Given the description of an element on the screen output the (x, y) to click on. 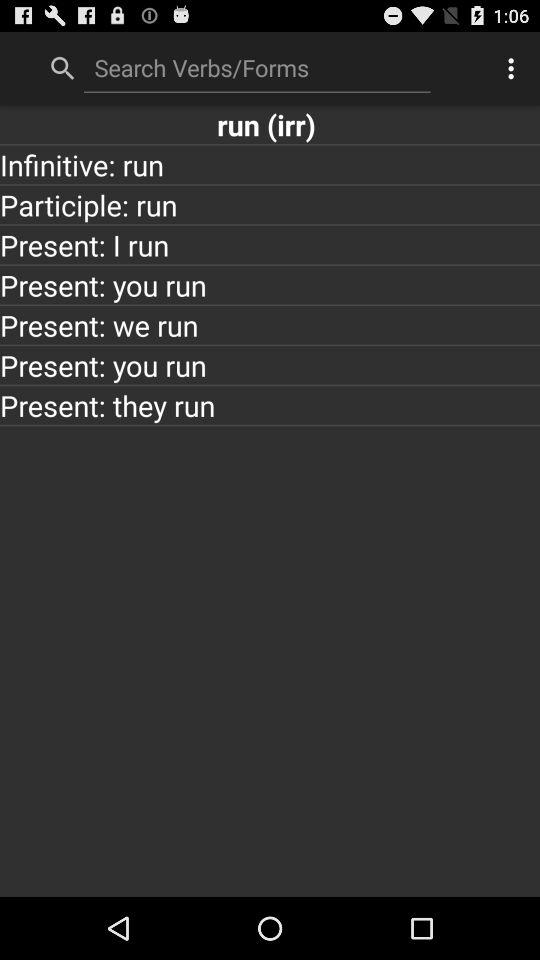
search (257, 67)
